Given the description of an element on the screen output the (x, y) to click on. 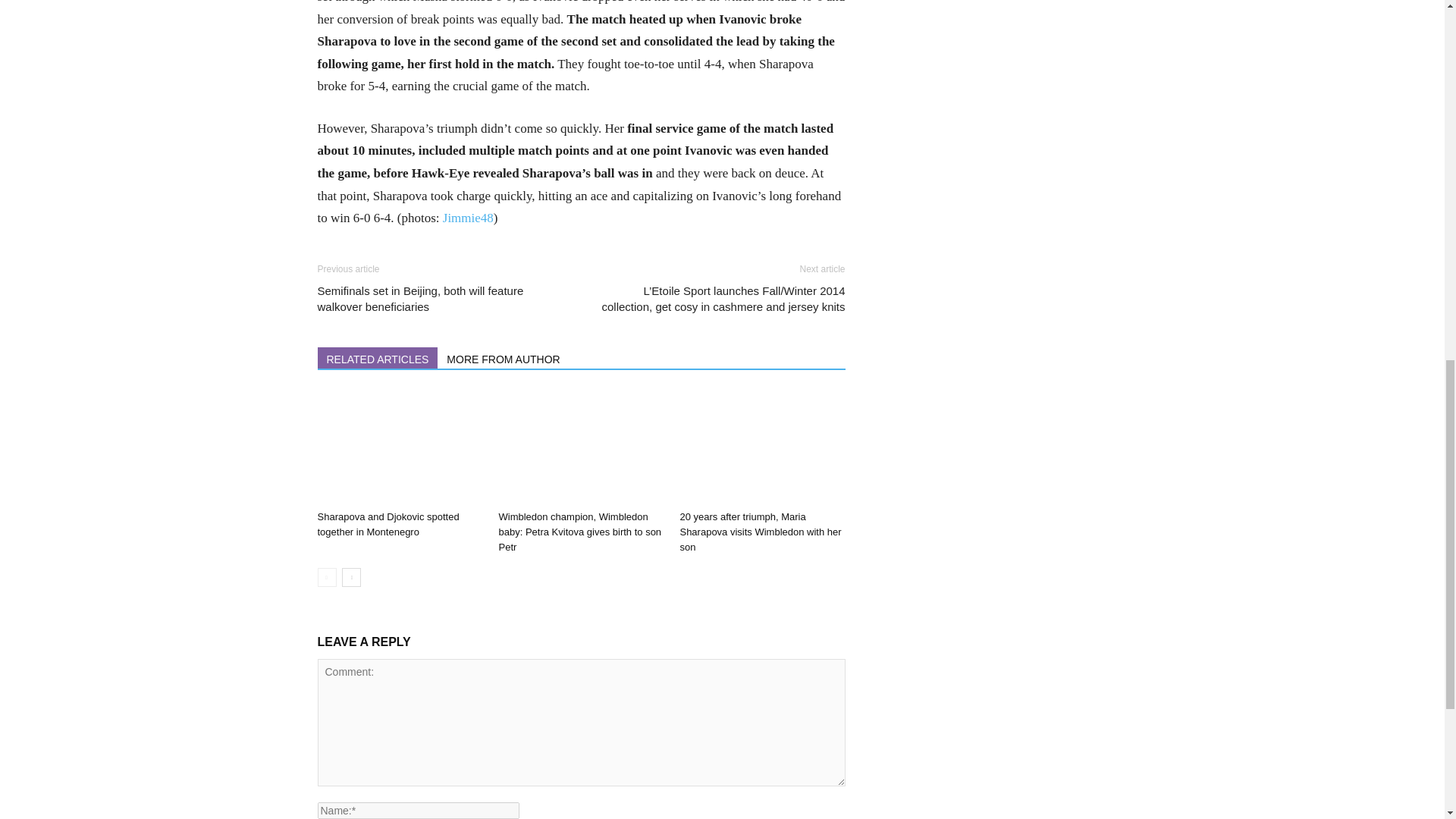
Sharapova and Djokovic spotted together in Montenegro (399, 447)
Sharapova and Djokovic spotted together in Montenegro (387, 524)
